Given the description of an element on the screen output the (x, y) to click on. 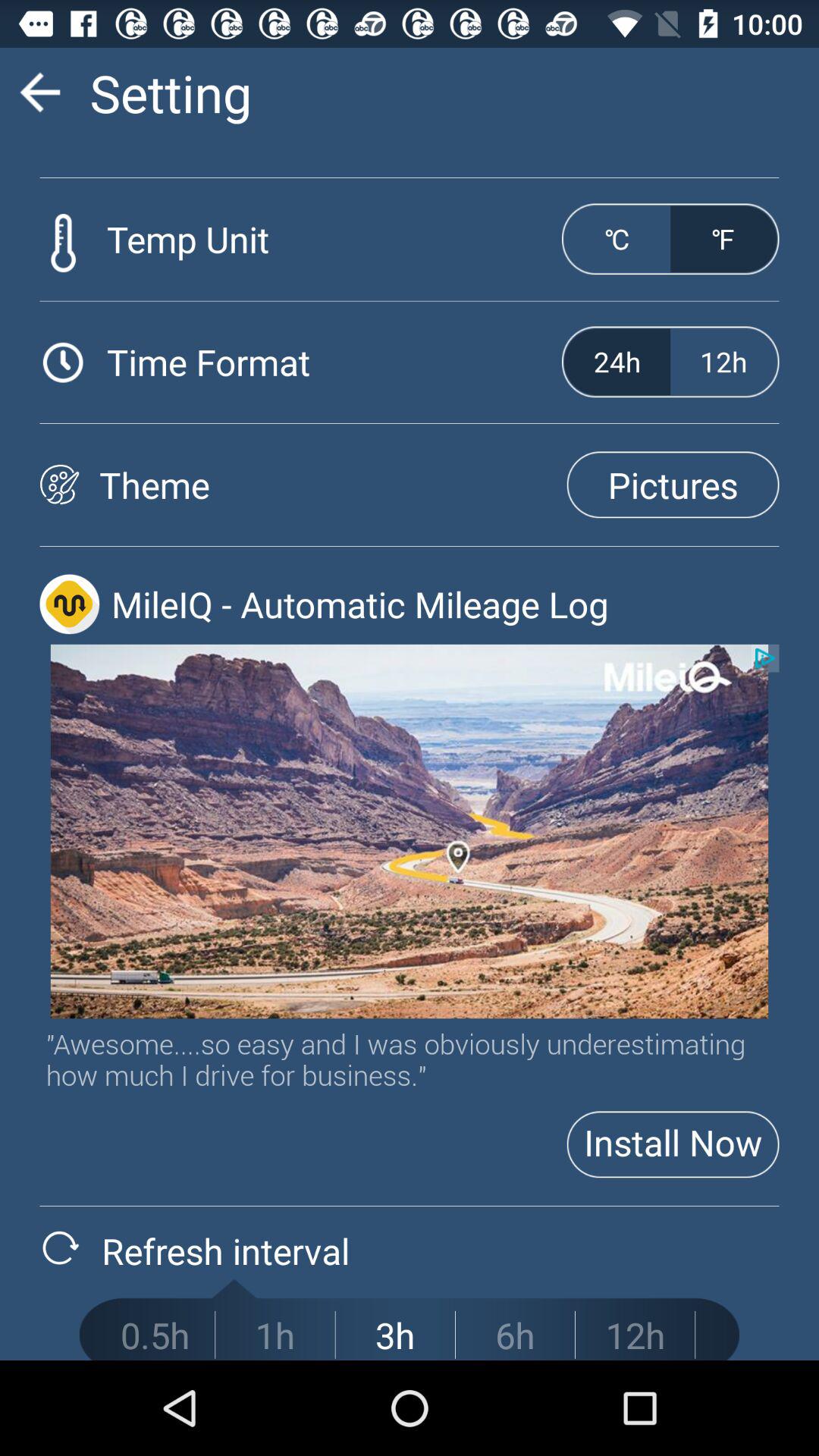
previous menu (39, 92)
